Given the description of an element on the screen output the (x, y) to click on. 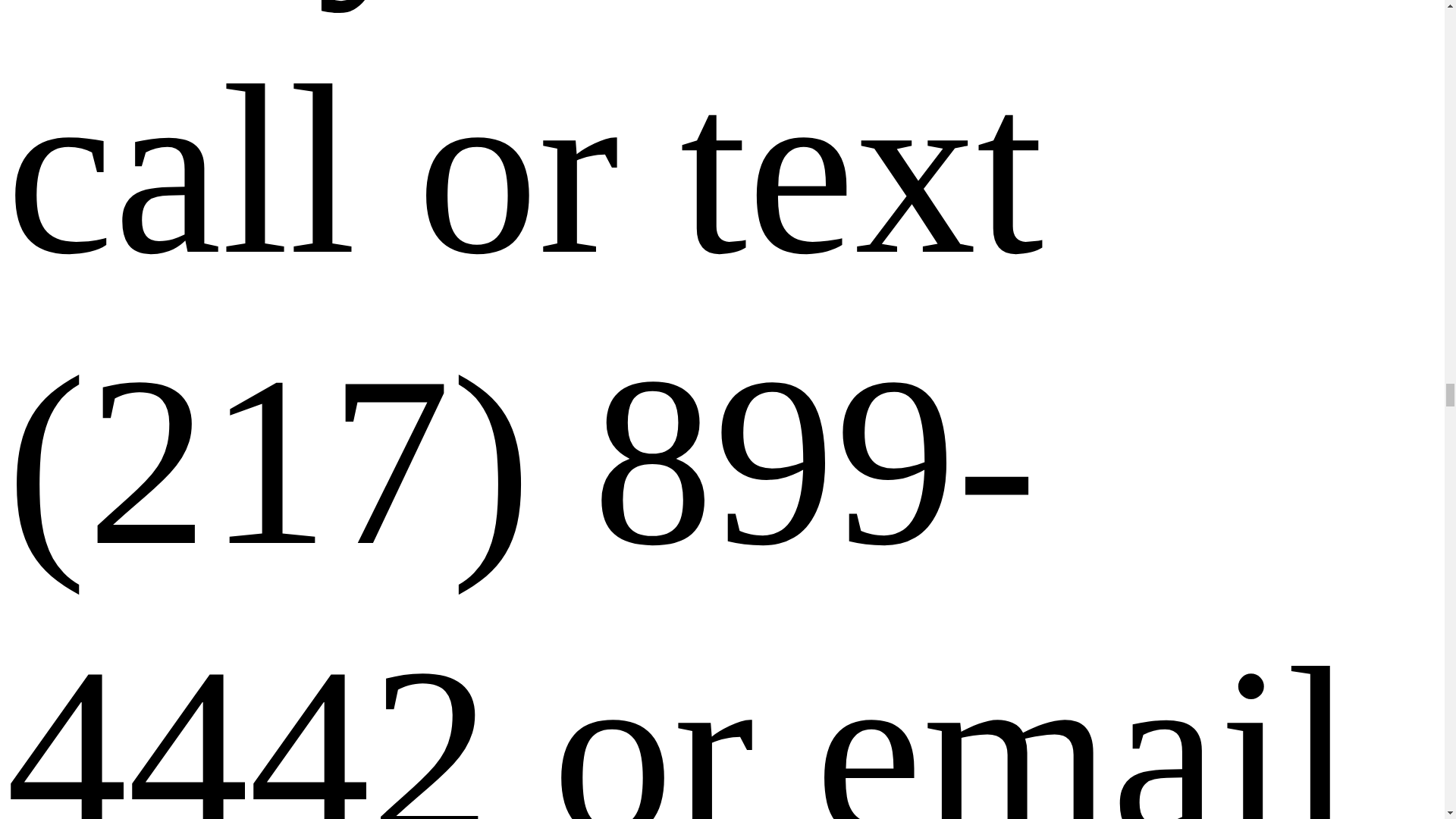
email (1084, 718)
